Given the description of an element on the screen output the (x, y) to click on. 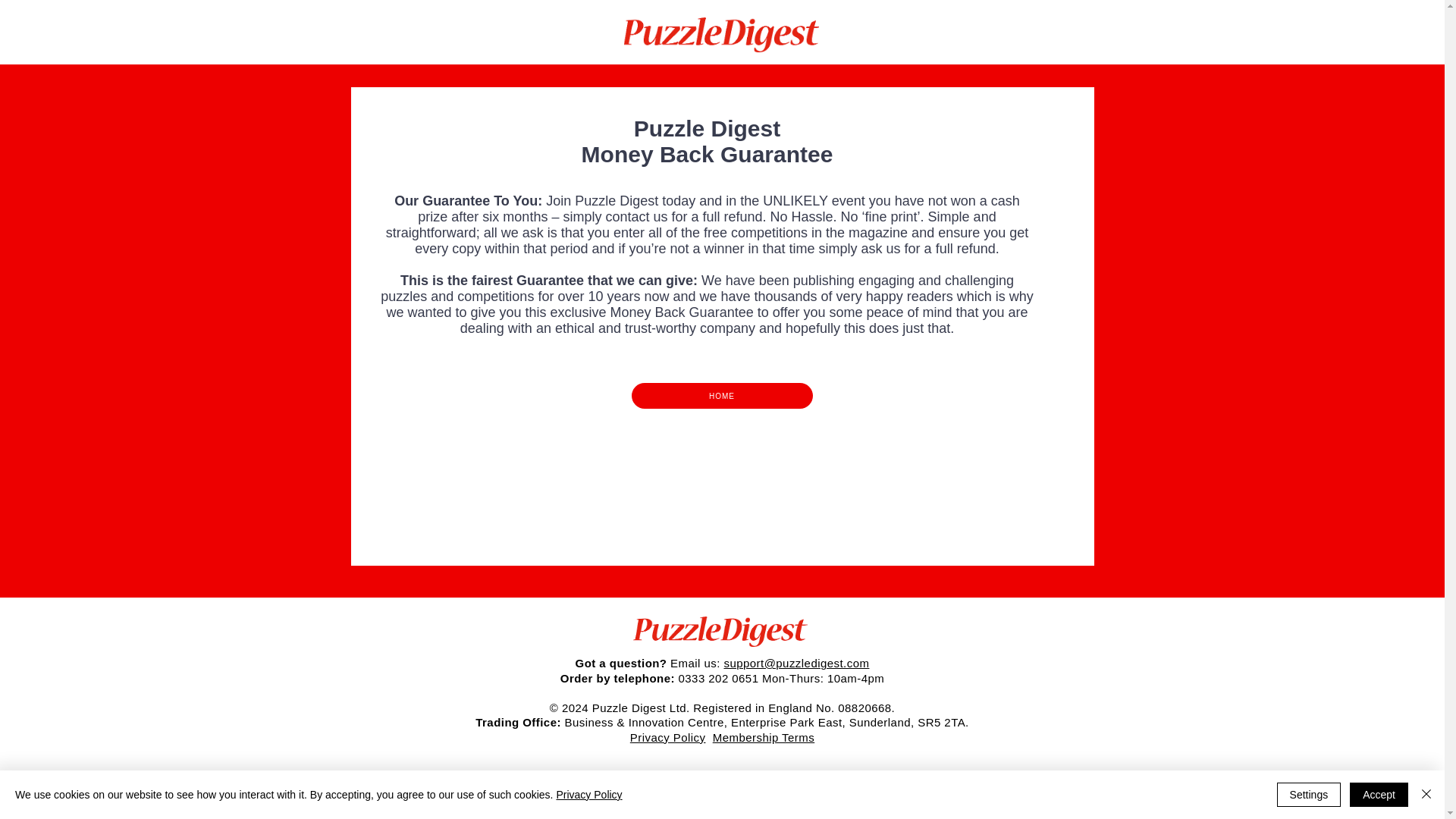
Accept (1378, 794)
Privacy Policy (588, 794)
HOME (721, 395)
Settings (1308, 794)
Membership Terms (763, 737)
Privacy Policy (668, 737)
